Given the description of an element on the screen output the (x, y) to click on. 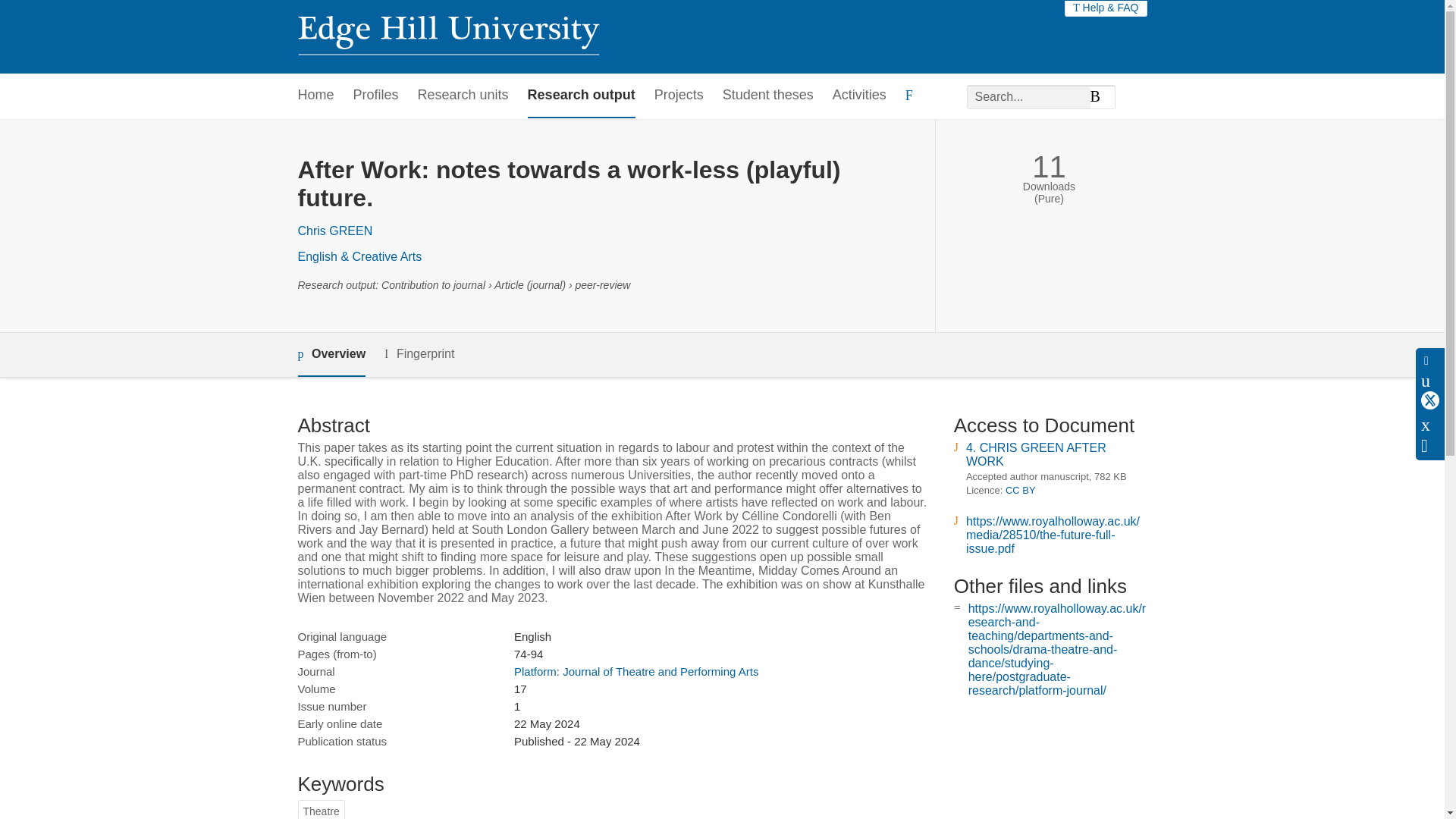
Profiles (375, 95)
Student theses (767, 95)
Chris GREEN (334, 230)
Projects (678, 95)
Research output (580, 95)
CC BY (1020, 490)
Activities (859, 95)
4. CHRIS GREEN AFTER WORK (1036, 454)
Fingerprint (419, 353)
Platform: Journal of Theatre and Performing Arts (635, 671)
Research units (462, 95)
Edge Hill University Home (447, 36)
Overview (331, 354)
